Given the description of an element on the screen output the (x, y) to click on. 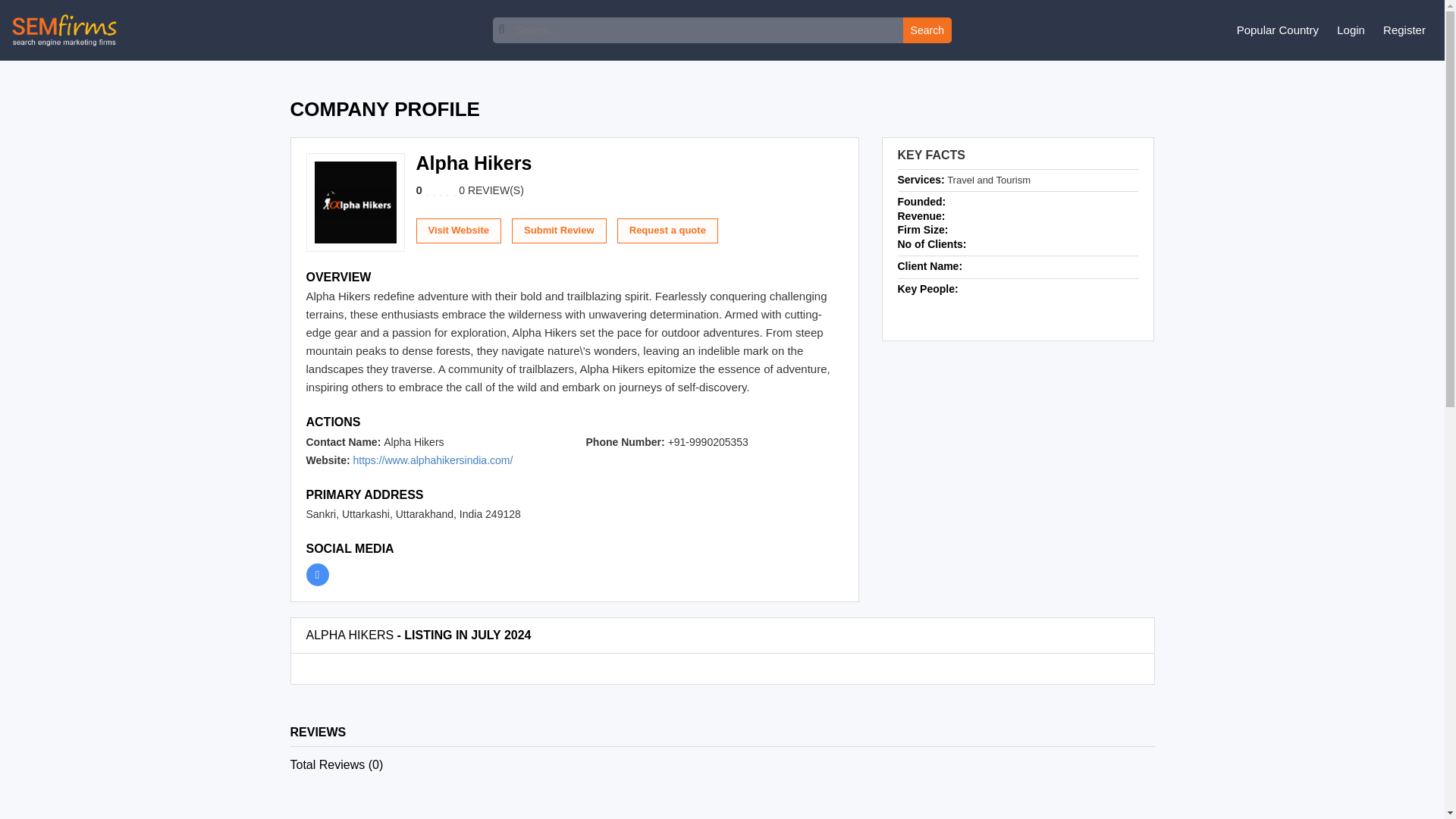
Search (927, 30)
Visit Website (457, 230)
Submit Review (558, 230)
Request a quote (667, 230)
Popular Country (1277, 29)
Register (1403, 29)
Login (1351, 29)
